Given the description of an element on the screen output the (x, y) to click on. 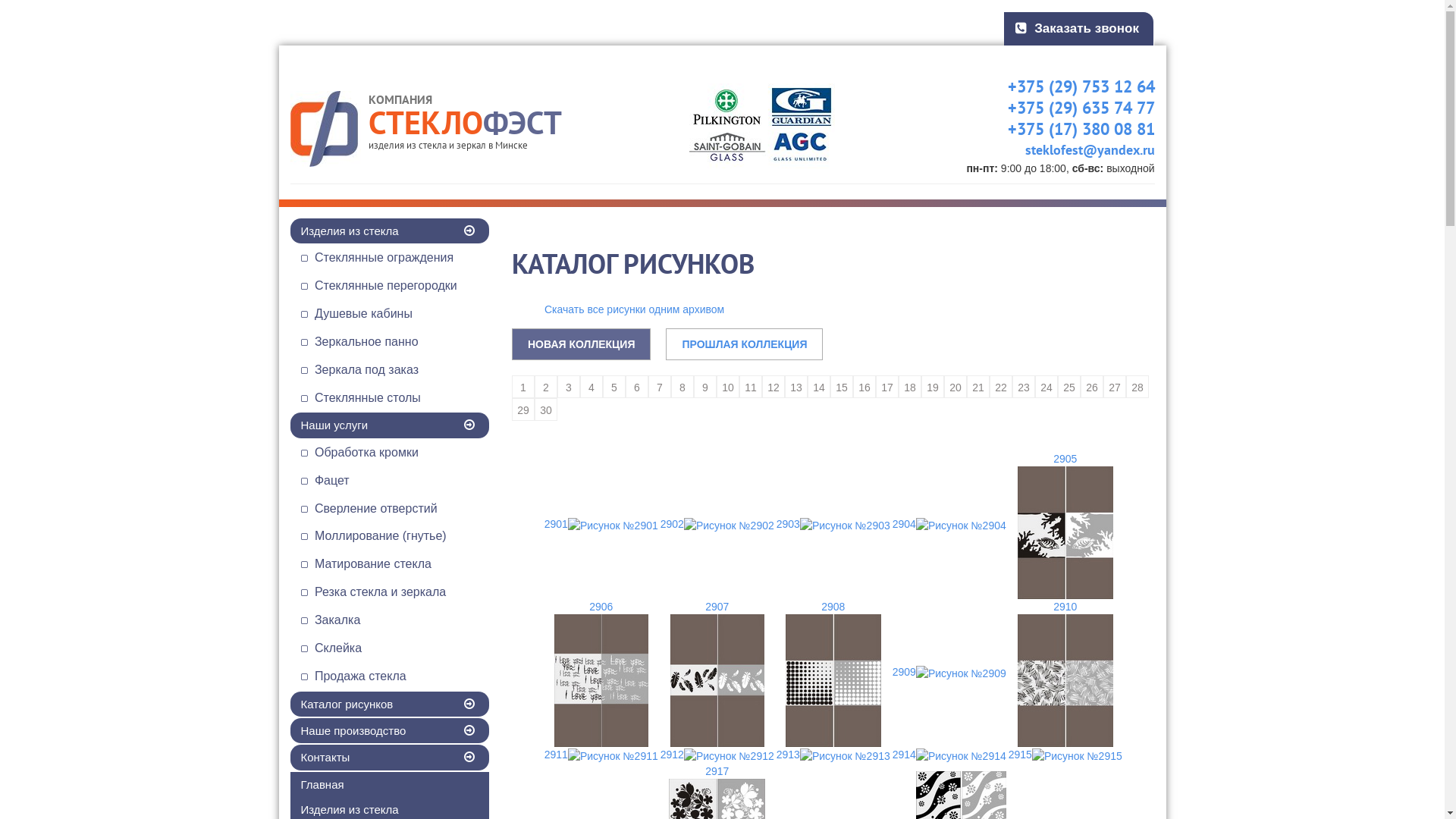
8 Element type: text (682, 386)
20 Element type: text (955, 386)
2906 Element type: text (600, 672)
29 Element type: text (522, 409)
steklofest@yandex.ru Element type: text (1075, 149)
15 Element type: text (841, 386)
2908 Element type: text (833, 672)
18 Element type: text (909, 386)
2914 Element type: text (949, 754)
2909 Element type: text (949, 672)
13 Element type: text (795, 386)
2915 Element type: text (1065, 754)
28 Element type: text (1137, 386)
2902 Element type: text (716, 524)
9 Element type: text (704, 386)
2904 Element type: text (949, 524)
6 Element type: text (636, 386)
2905 Element type: text (1065, 525)
2910 Element type: text (1065, 672)
19 Element type: text (932, 386)
25 Element type: text (1068, 386)
11 Element type: text (750, 386)
26 Element type: text (1091, 386)
2 Element type: text (545, 386)
17 Element type: text (886, 386)
5 Element type: text (613, 386)
+375 (17) 380 08 81 Element type: text (1067, 128)
23 Element type: text (1023, 386)
14 Element type: text (818, 386)
2911 Element type: text (600, 754)
2903 Element type: text (833, 524)
2901 Element type: text (600, 524)
27 Element type: text (1114, 386)
22 Element type: text (1000, 386)
24 Element type: text (1046, 386)
2912 Element type: text (716, 754)
16 Element type: text (864, 386)
2913 Element type: text (833, 754)
1 Element type: text (522, 386)
4 Element type: text (591, 386)
21 Element type: text (977, 386)
2907 Element type: text (716, 672)
+375 (29) 635 74 77 Element type: text (1067, 107)
10 Element type: text (727, 386)
7 Element type: text (659, 386)
3 Element type: text (568, 386)
+375 (29) 753 12 64 Element type: text (1067, 86)
30 Element type: text (545, 409)
12 Element type: text (773, 386)
